Given the description of an element on the screen output the (x, y) to click on. 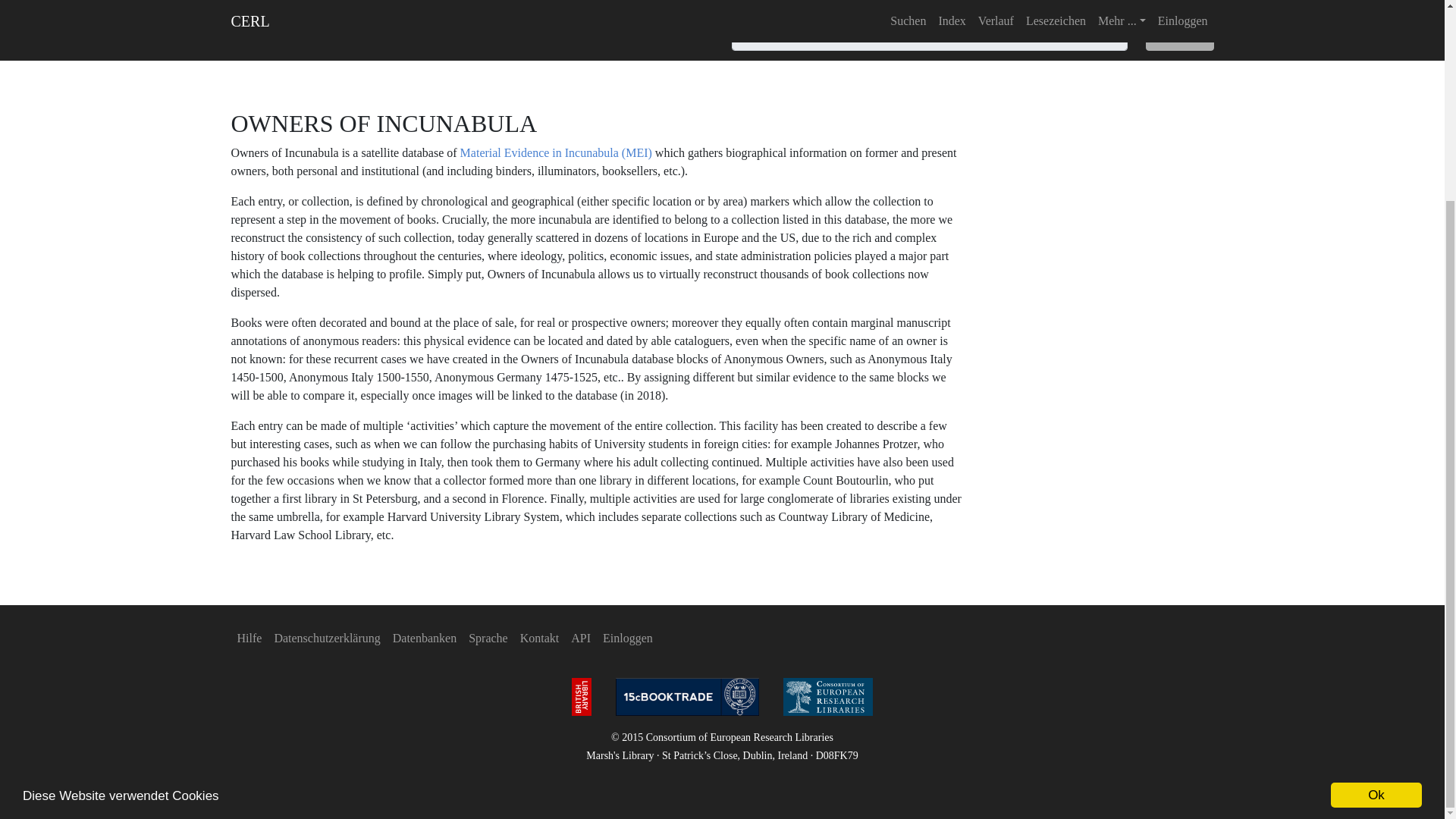
Einloggen (627, 638)
Kontakt (539, 638)
API (580, 638)
Datenbanken (425, 638)
  Suchen (1179, 36)
Sprache (488, 638)
Hilfe (248, 638)
